Given the description of an element on the screen output the (x, y) to click on. 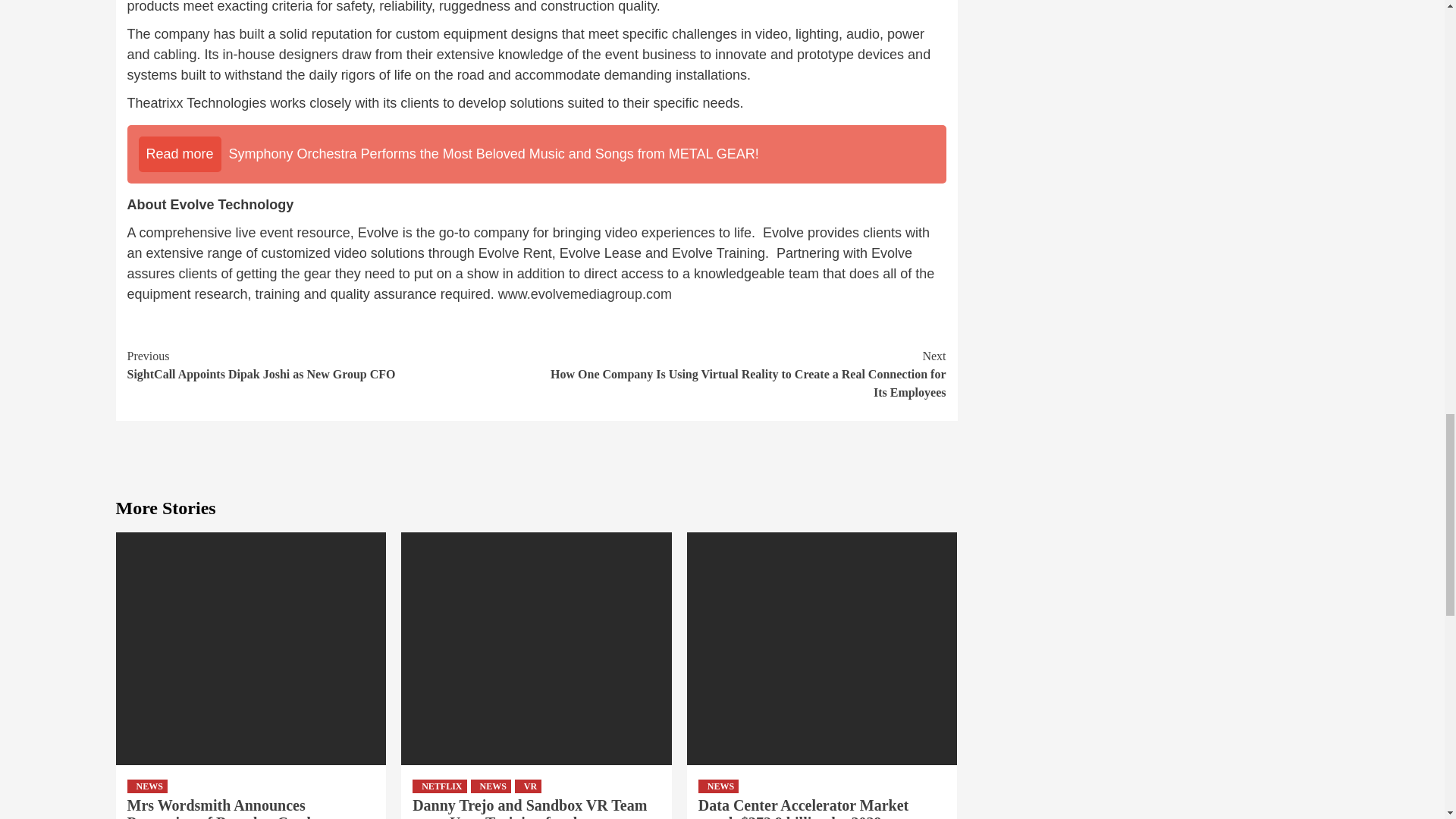
NETFLIX (438, 786)
NEWS (147, 786)
NEWS (490, 786)
www.evolvemediagroup.com (584, 294)
VR (528, 786)
